Given the description of an element on the screen output the (x, y) to click on. 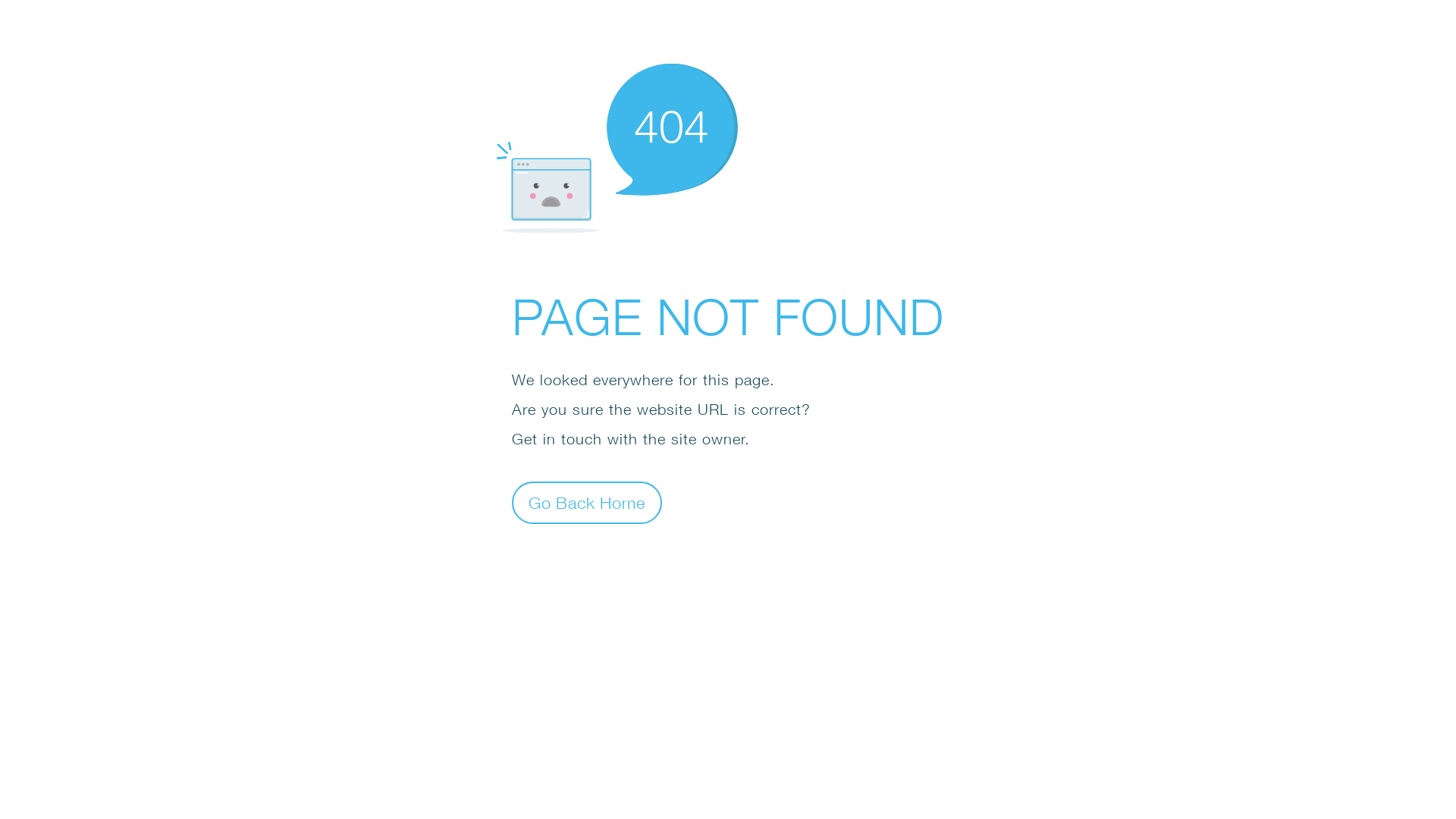
Go Back Home Element type: text (586, 502)
